Given the description of an element on the screen output the (x, y) to click on. 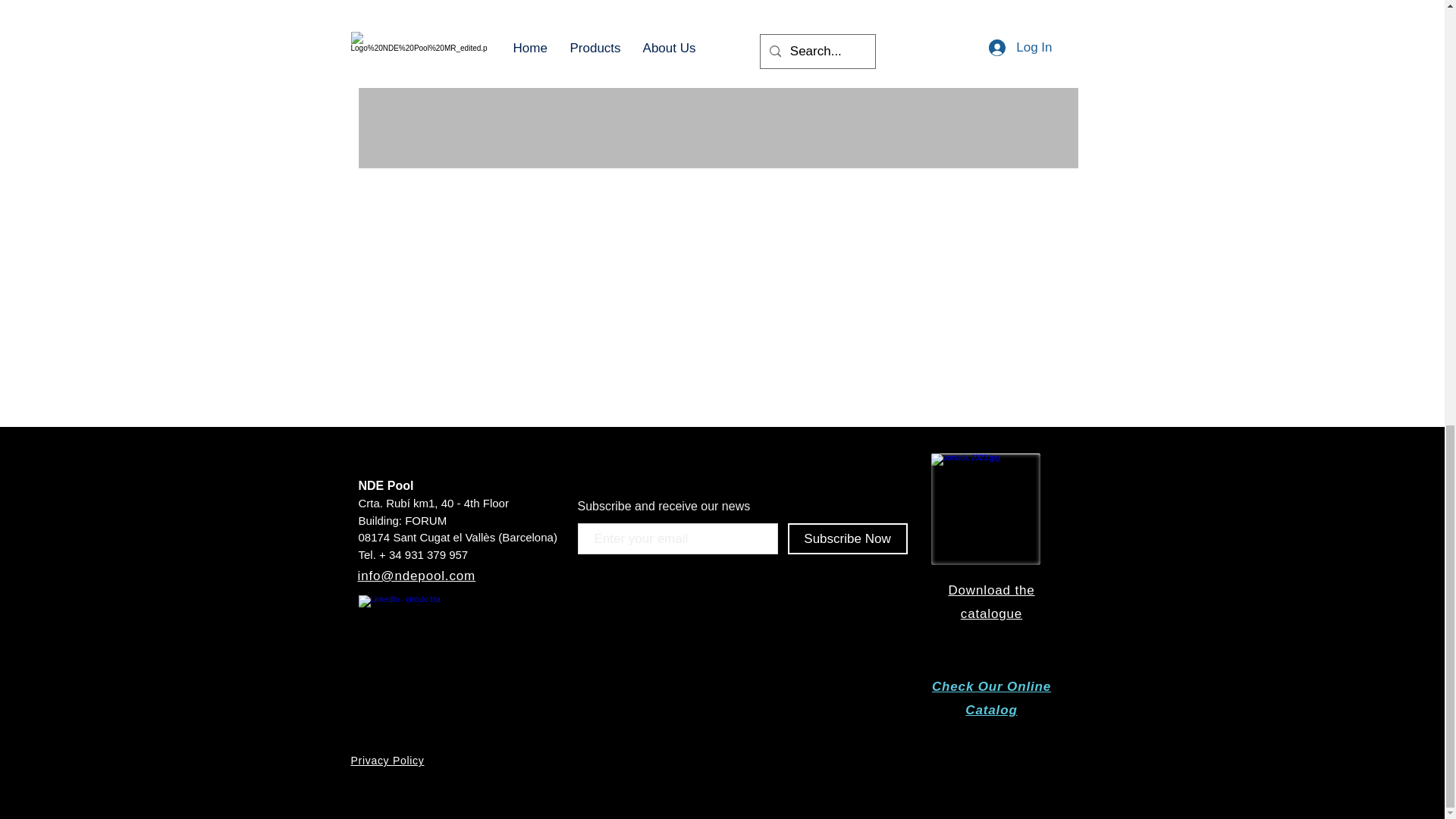
Check Our Online Catalog (991, 698)
Subscribe Now (847, 538)
Download the catalogue (990, 601)
Privacy Policy (386, 760)
